Given the description of an element on the screen output the (x, y) to click on. 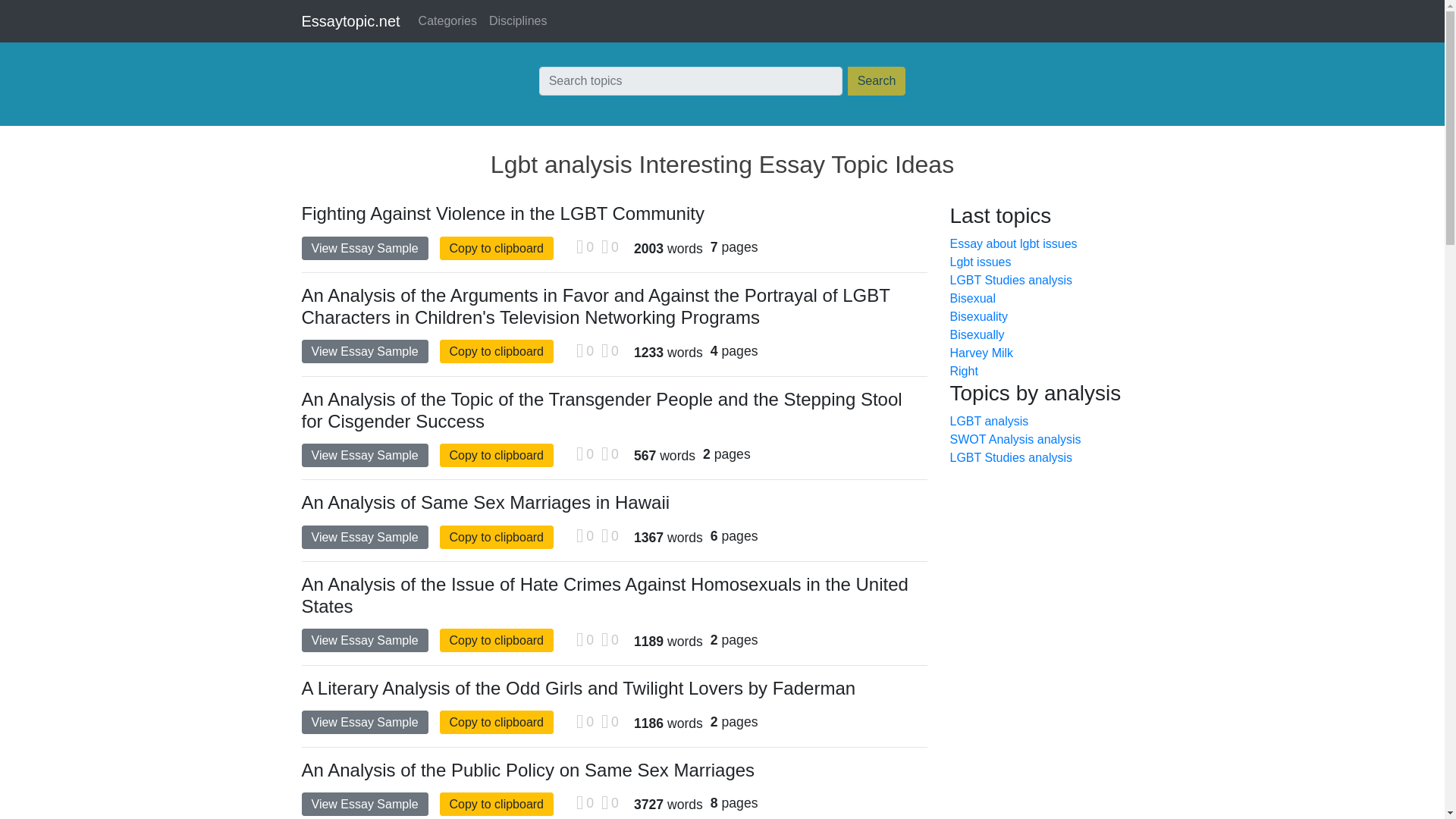
Copy to clipboard (496, 721)
Categories (447, 20)
View Essay Sample (364, 803)
View Essay Sample (364, 721)
View Essay Sample (364, 639)
Essaytopic.net (350, 20)
View Essay Sample (364, 454)
Copy to clipboard (496, 351)
View Essay Sample (364, 536)
View Essay Sample (364, 351)
Copy to clipboard (496, 248)
Copy to clipboard (496, 536)
Disciplines (518, 20)
Search (876, 80)
Copy to clipboard (496, 639)
